Given the description of an element on the screen output the (x, y) to click on. 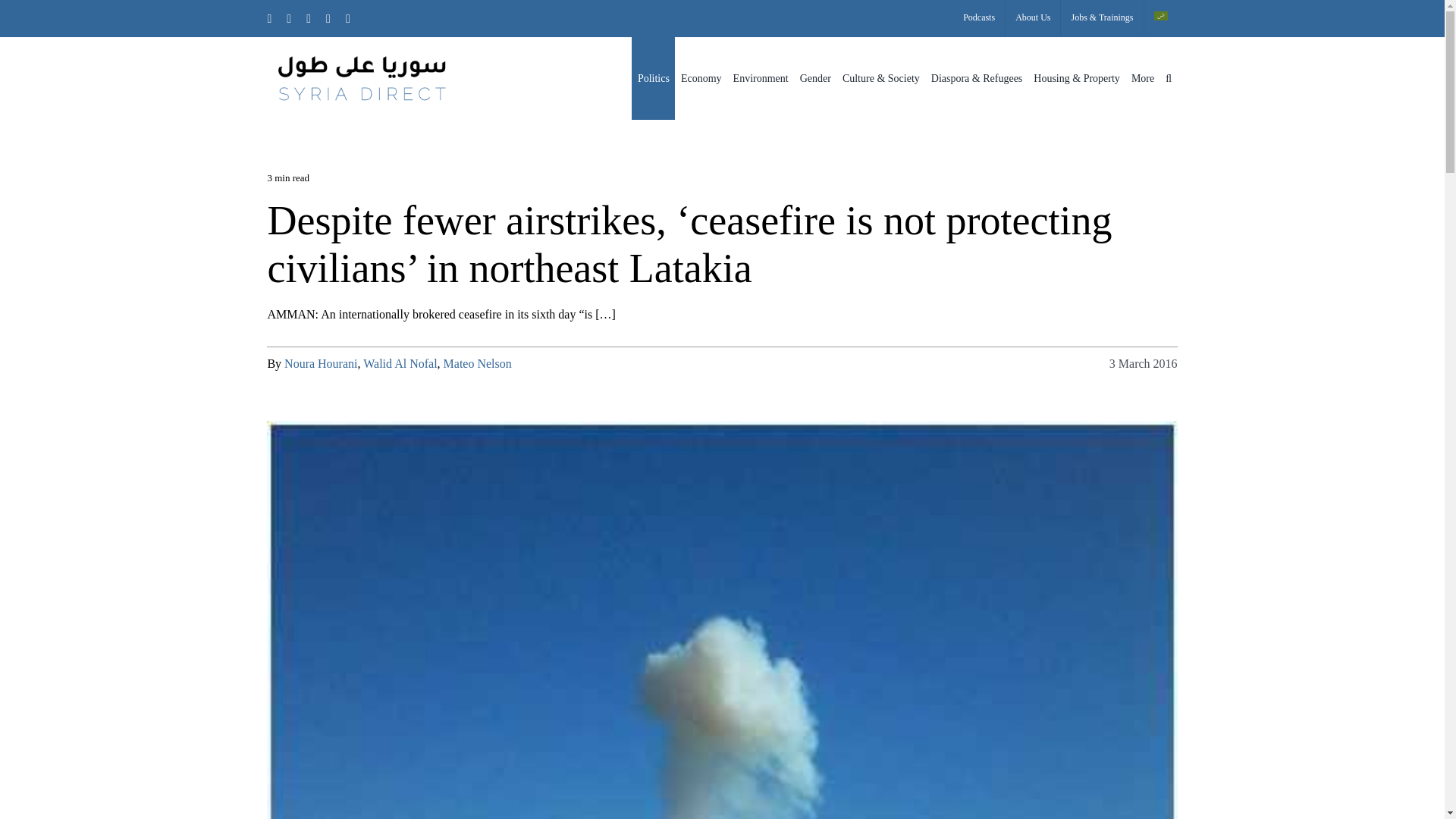
Podcasts (978, 18)
About Us (1032, 18)
